Given the description of an element on the screen output the (x, y) to click on. 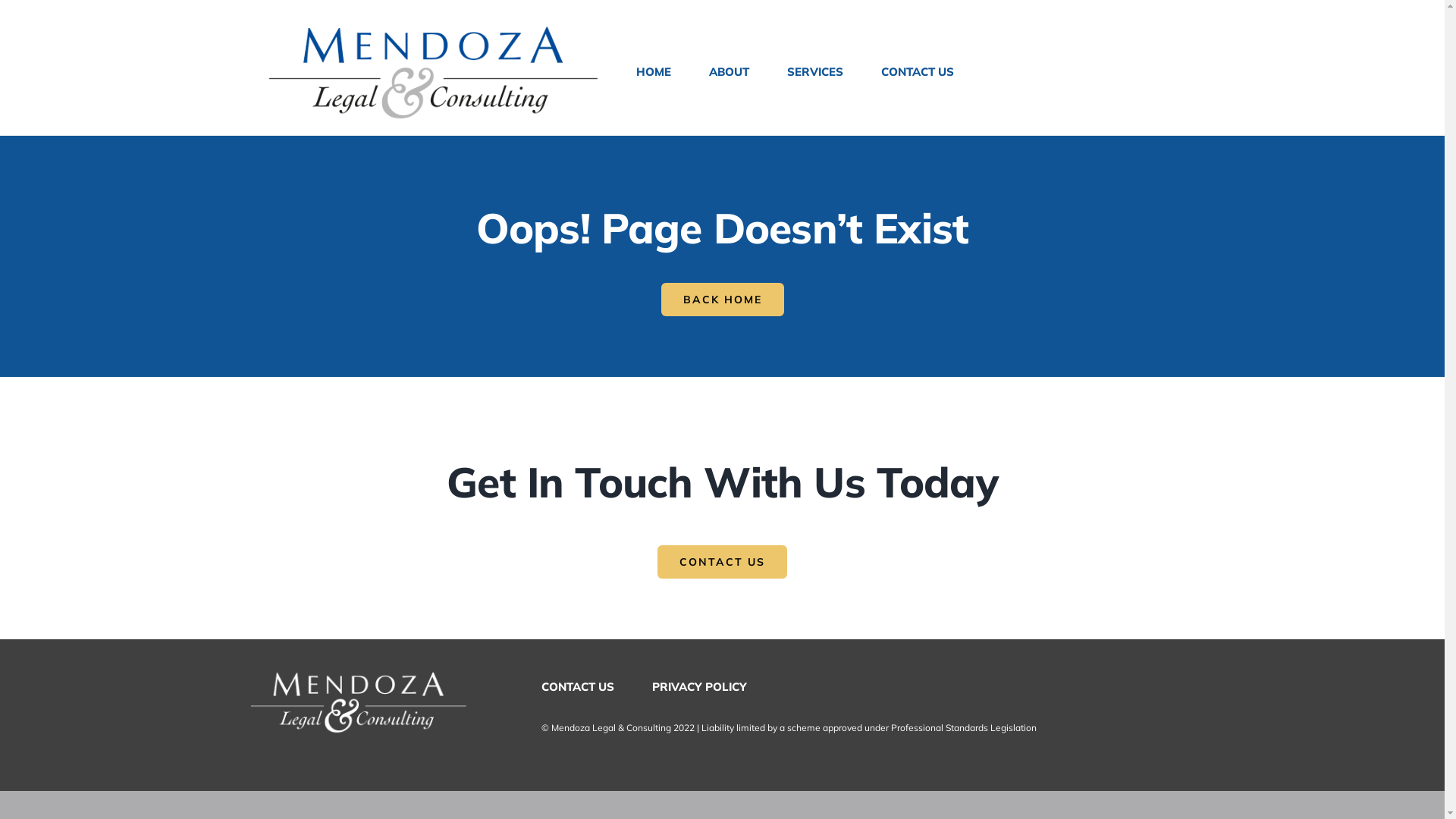
HOME Element type: text (653, 71)
SERVICES Element type: text (815, 71)
BACK HOME Element type: text (722, 299)
CONTACT US Element type: text (722, 561)
CONTACT US Element type: text (577, 686)
CONTACT US Element type: text (917, 71)
PRIVACY POLICY Element type: text (699, 686)
Logo-SML-White_v2 Element type: hover (357, 701)
ABOUT Element type: text (729, 71)
